Given the description of an element on the screen output the (x, y) to click on. 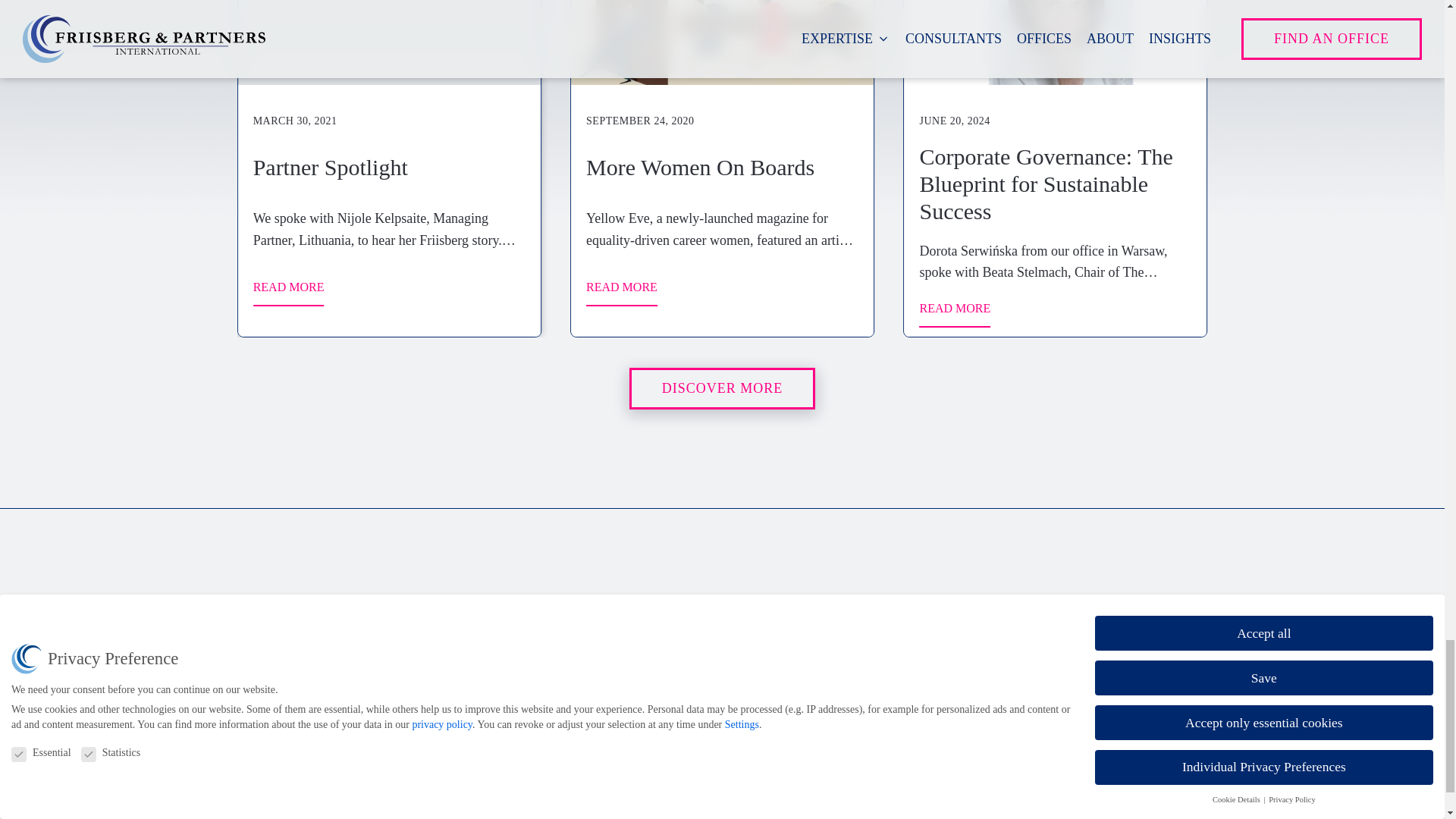
Privacy Policy (348, 746)
DISCOVER MORE (721, 388)
Executive Search (667, 646)
Terms (327, 773)
